Given the description of an element on the screen output the (x, y) to click on. 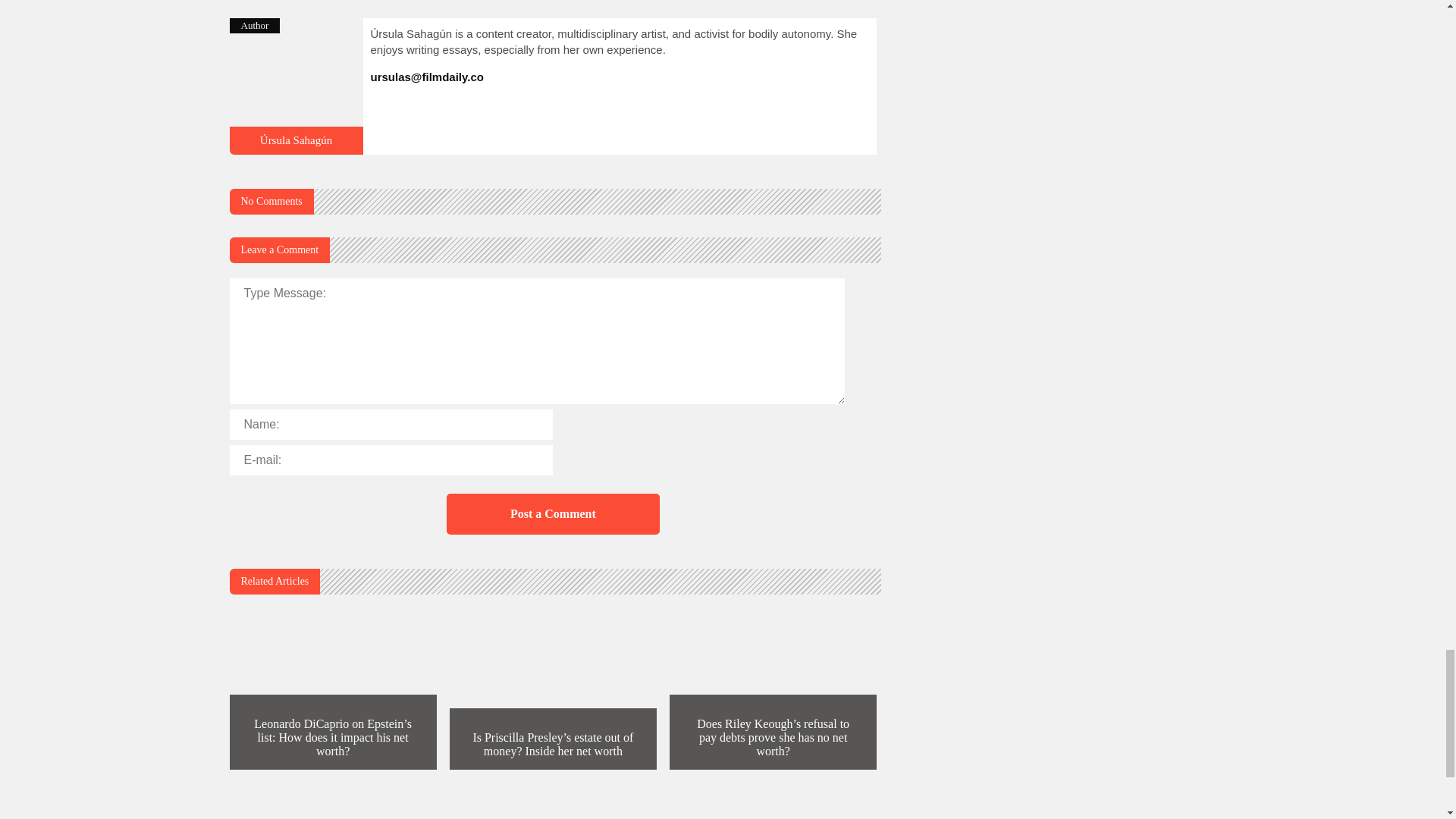
Post a Comment (553, 513)
